Given the description of an element on the screen output the (x, y) to click on. 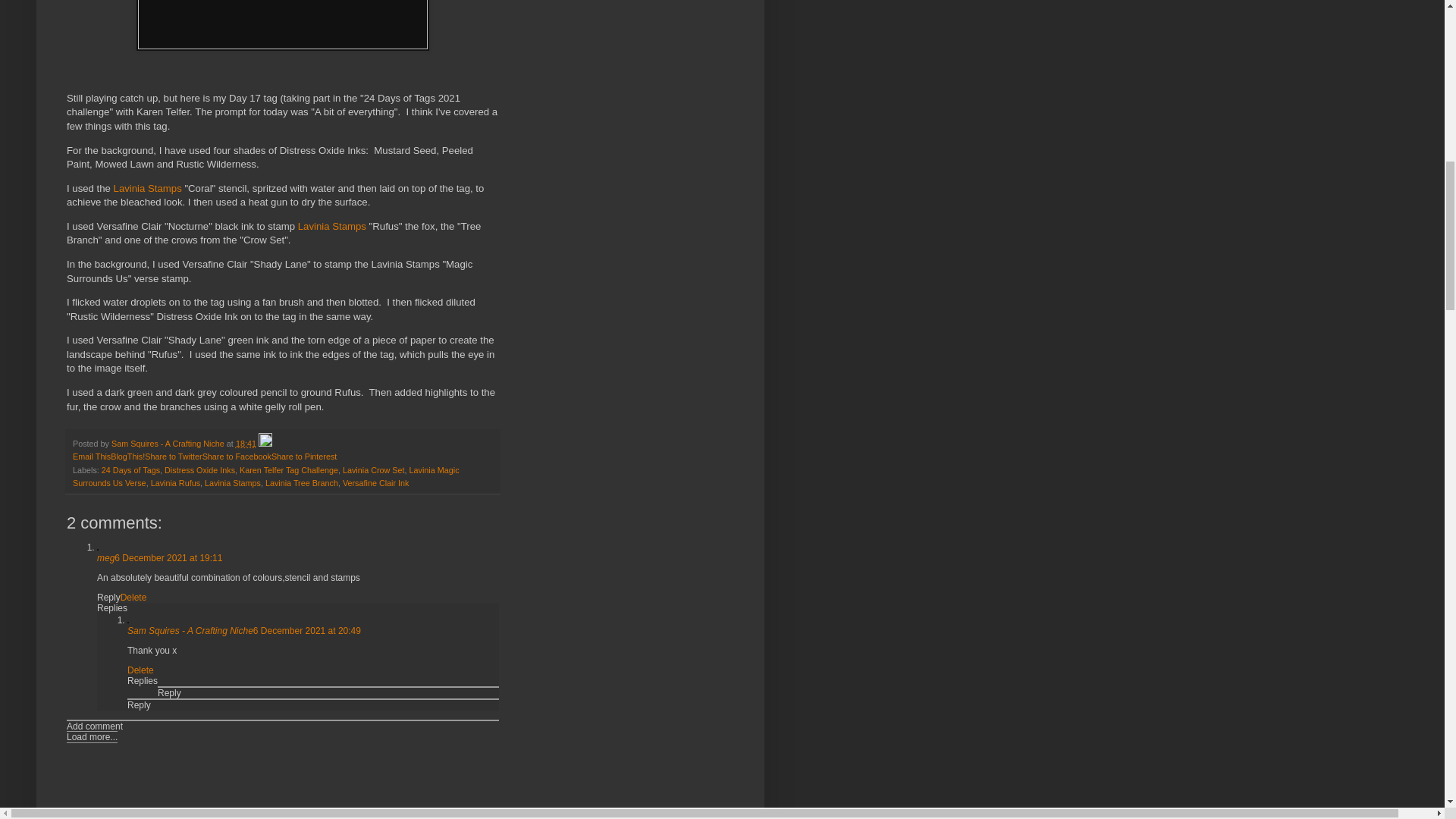
Distress Oxide Inks (199, 470)
Reply (168, 692)
Email This (91, 456)
Versafine Clair Ink (375, 482)
Email This (91, 456)
Sam Squires - A Crafting Niche (190, 630)
Delete (141, 670)
meg (106, 557)
Share to Facebook (236, 456)
Sam Squires - A Crafting Niche (169, 442)
Lavinia Tree Branch (300, 482)
Reply (108, 597)
Lavinia Stamps (332, 225)
Edit Post (265, 442)
Share to Facebook (236, 456)
